Given the description of an element on the screen output the (x, y) to click on. 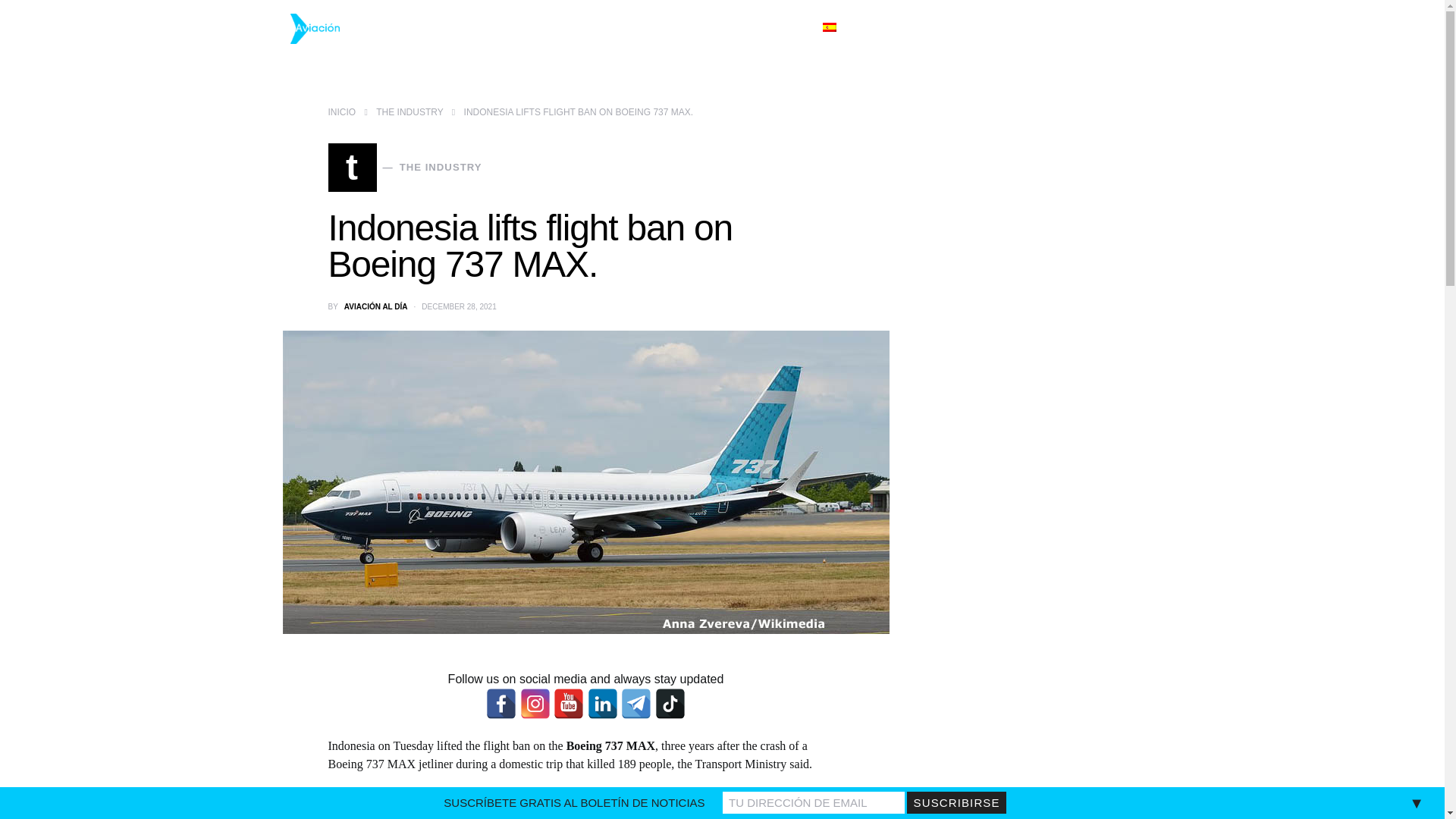
Suscribirse (956, 802)
YouTube (568, 703)
MORE (785, 28)
Facebook (501, 703)
INCIDENTS AND ACCIDENTS (674, 28)
THE INDUSTRY (543, 28)
Telegram (635, 703)
THE INDUSTRY (408, 112)
LinkedIn (602, 703)
SPANISH (842, 28)
Instagram (534, 703)
Spanish (842, 28)
INICIO (404, 167)
AIRLINES (341, 112)
